Given the description of an element on the screen output the (x, y) to click on. 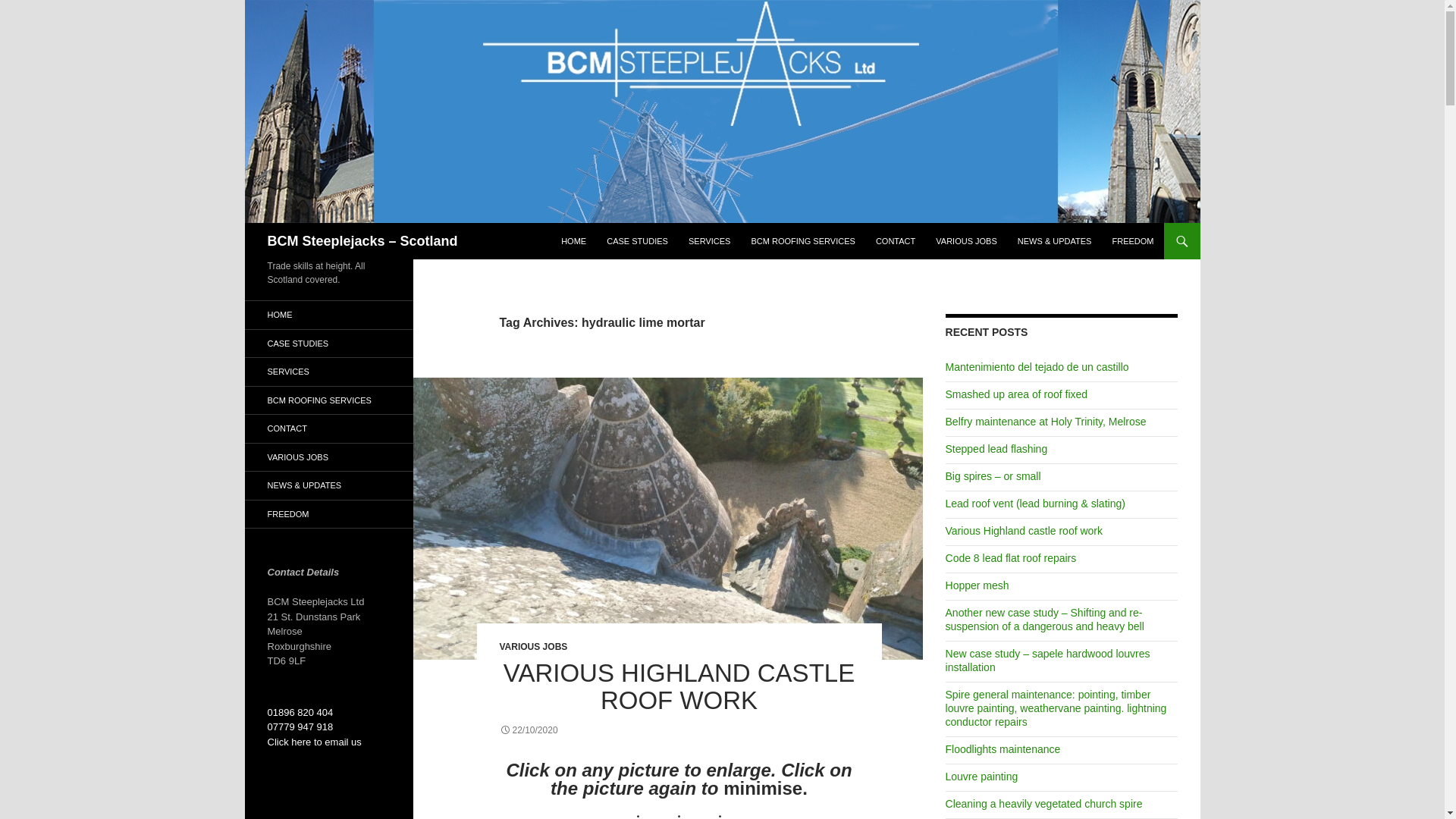
BCM ROOFING SERVICES (802, 240)
FREEDOM (1131, 240)
SERVICES (709, 240)
HOME (573, 240)
CONTACT (895, 240)
VARIOUS JOBS (966, 240)
VARIOUS HIGHLAND CASTLE ROOF WORK (678, 686)
VARIOUS JOBS (533, 646)
CASE STUDIES (636, 240)
